Given the description of an element on the screen output the (x, y) to click on. 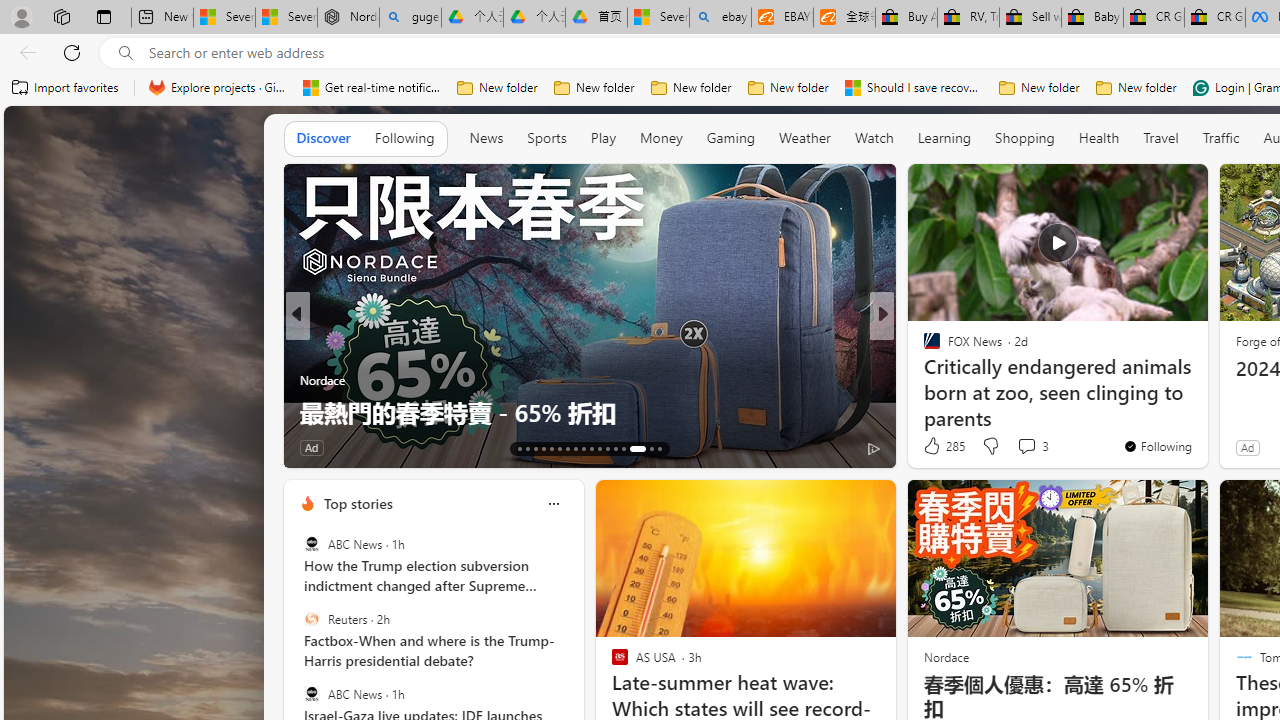
AutomationID: tab-17 (550, 448)
285 Like (942, 446)
Nordace (945, 656)
News (486, 137)
Hide this story (1147, 187)
Traffic (1220, 138)
